Given the description of an element on the screen output the (x, y) to click on. 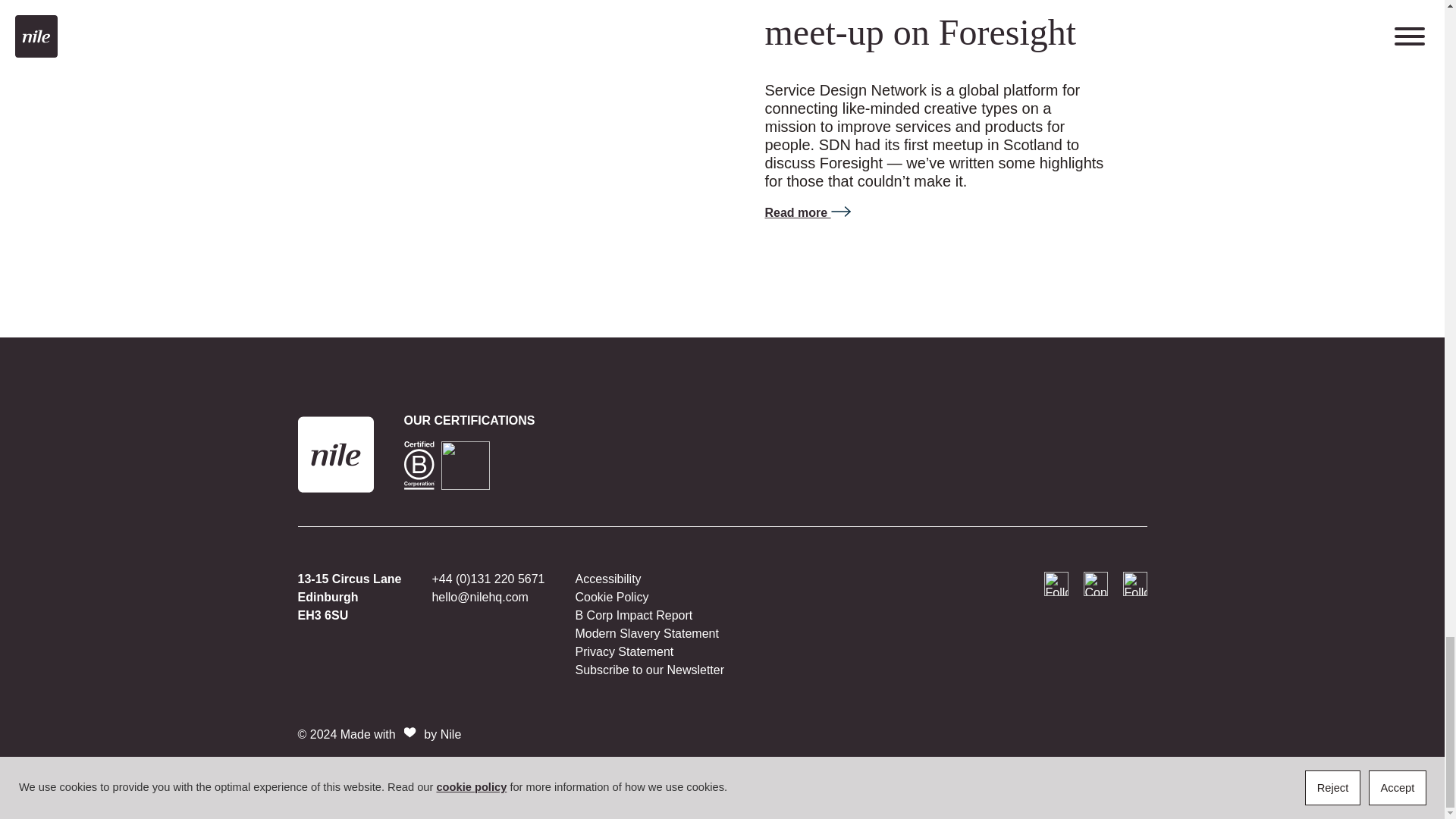
Nile on Instagram (1055, 583)
Phone Number (487, 578)
Nile on LinkedIn (1094, 583)
Find us on Google Maps (349, 597)
Nile on Twitter (1134, 583)
ISO 9001 Certified (465, 465)
Email Address (478, 596)
